Given the description of an element on the screen output the (x, y) to click on. 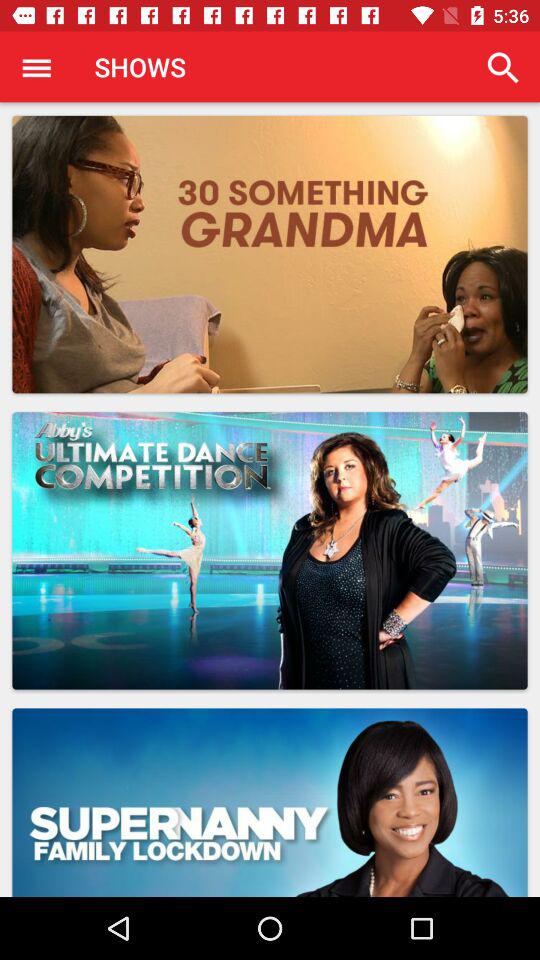
click the icon at the top right corner (503, 67)
